Given the description of an element on the screen output the (x, y) to click on. 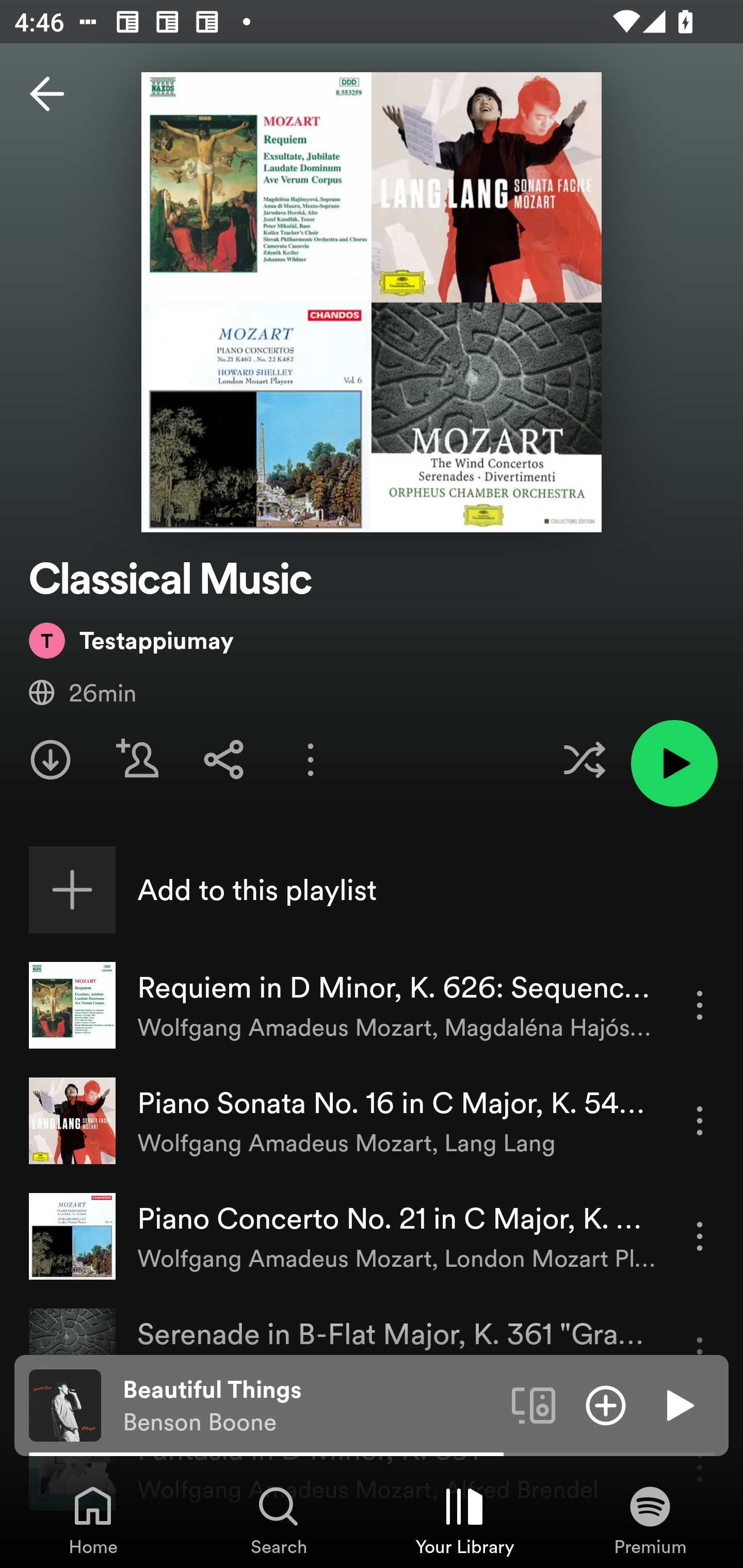
Back (46, 93)
Testappiumay (131, 640)
Download (50, 759)
Invite Friends for playlist (136, 759)
More options for playlist Classical Music (310, 759)
Enable shuffle for this playlist (583, 759)
Play playlist (674, 763)
Add to this playlist (371, 889)
Beautiful Things Benson Boone (309, 1405)
The cover art of the currently playing track (64, 1404)
Connect to a device. Opens the devices menu (533, 1404)
Add item (605, 1404)
Play (677, 1404)
Home, Tab 1 of 4 Home Home (92, 1519)
Search, Tab 2 of 4 Search Search (278, 1519)
Your Library, Tab 3 of 4 Your Library Your Library (464, 1519)
Premium, Tab 4 of 4 Premium Premium (650, 1519)
